Given the description of an element on the screen output the (x, y) to click on. 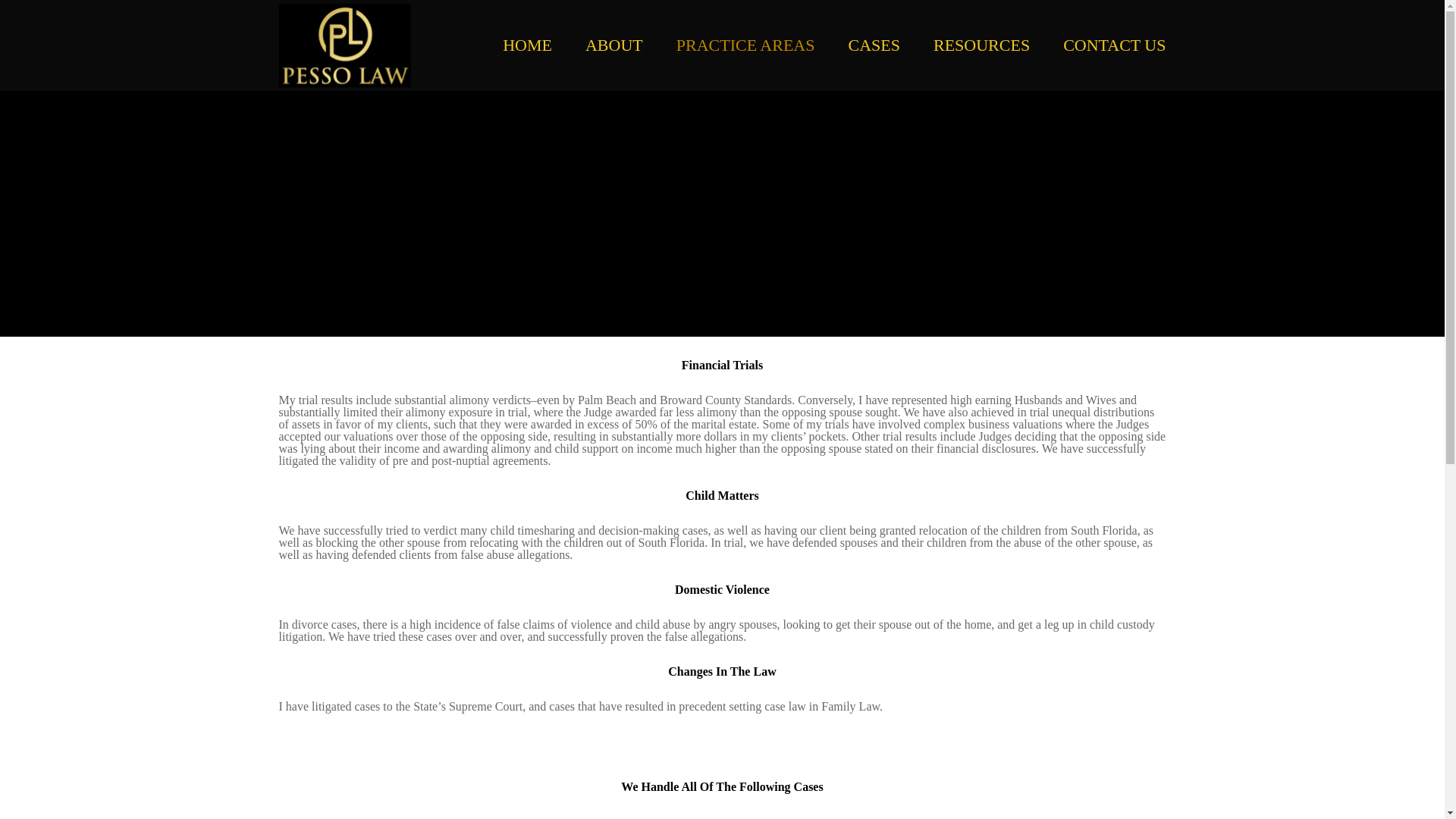
CASES (856, 45)
ABOUT (597, 45)
HOME (509, 45)
CONTACT US (1097, 45)
RESOURCES (964, 45)
PRACTICE AREAS (729, 45)
